Given the description of an element on the screen output the (x, y) to click on. 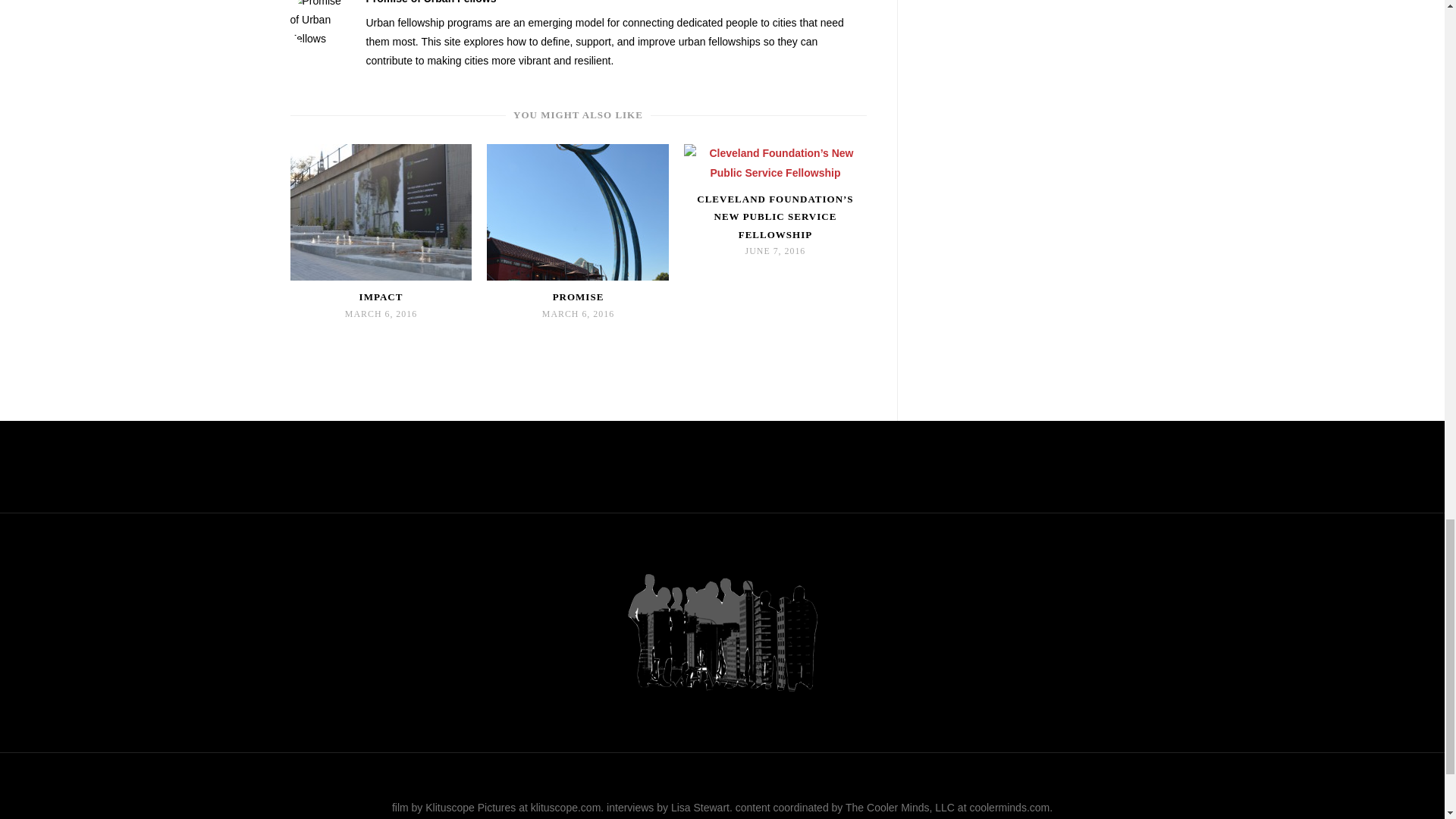
Promise of Urban Fellows (430, 2)
Posts by Promise of Urban Fellows (430, 2)
IMPACT (380, 296)
